Given the description of an element on the screen output the (x, y) to click on. 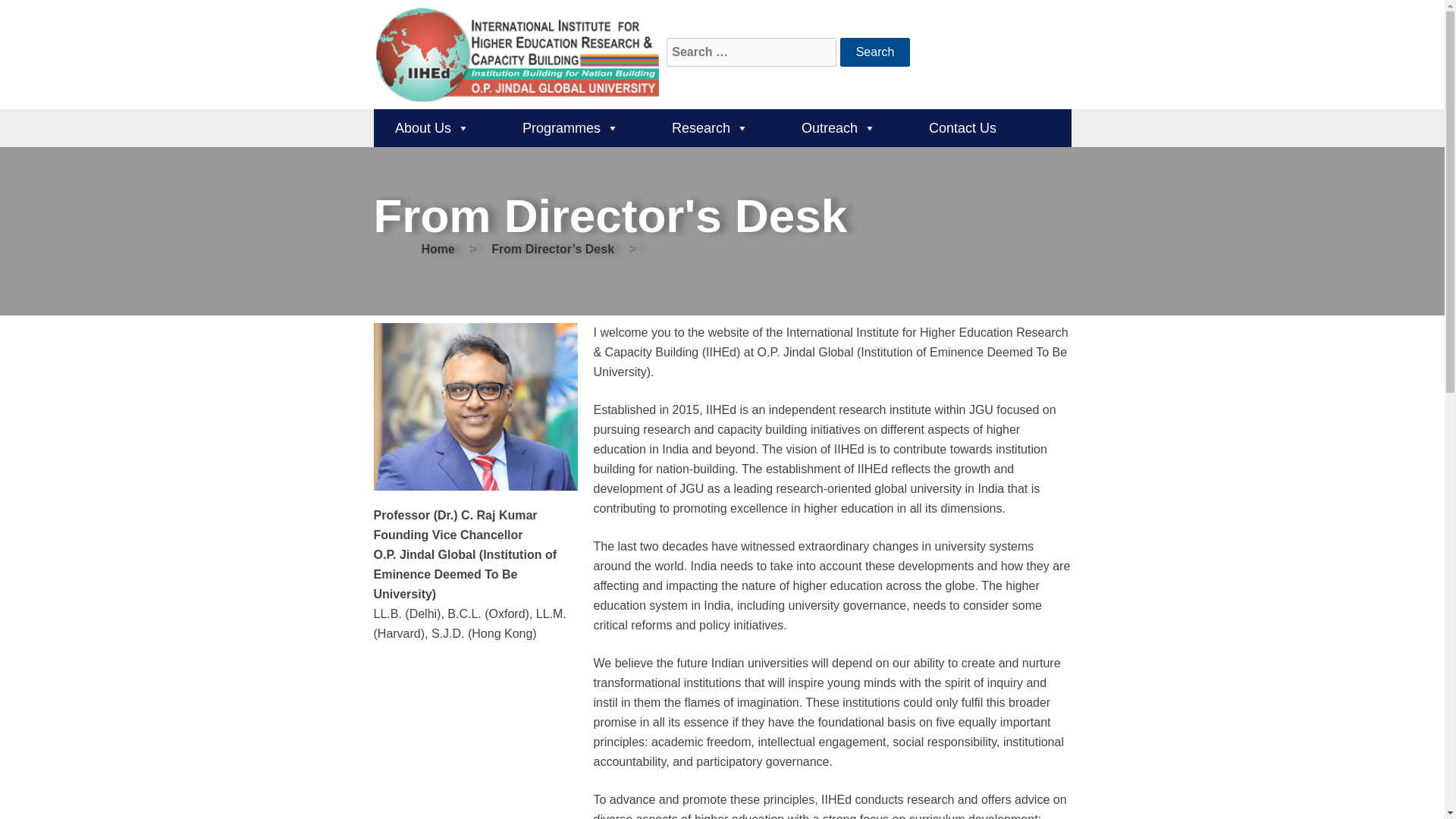
Search (875, 51)
Home (438, 249)
Search (875, 51)
Programmes (570, 127)
Outreach (839, 127)
Search (875, 51)
Research (709, 127)
Home (438, 249)
Contact Us (961, 127)
About Us (431, 127)
